Given the description of an element on the screen output the (x, y) to click on. 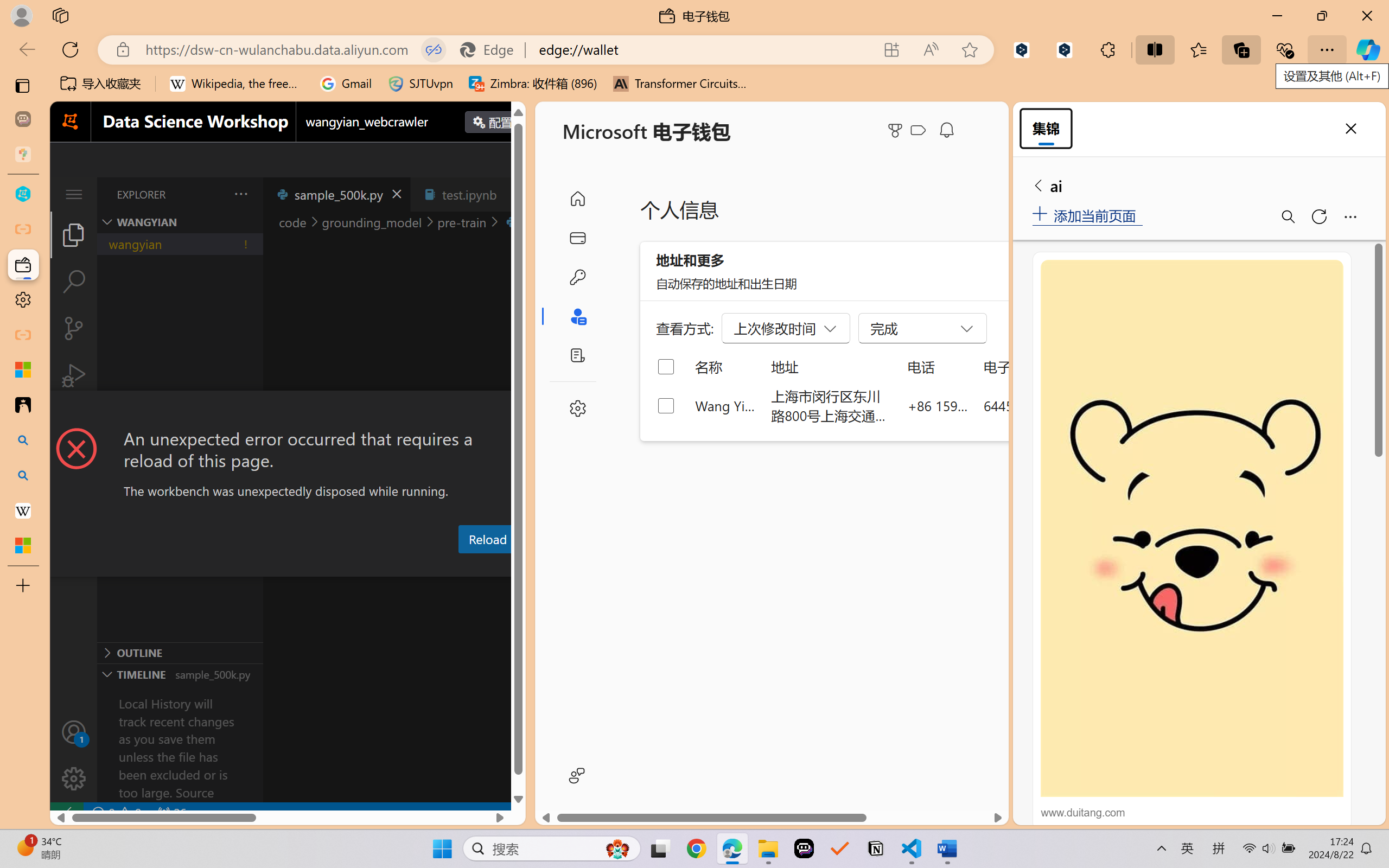
Extensions (Ctrl+Shift+X) (73, 422)
Microsoft Cashback (920, 130)
sample_500k.py (336, 194)
Microsoft security help and learning (22, 369)
Source Control (Ctrl+Shift+G) (73, 328)
